Given the description of an element on the screen output the (x, y) to click on. 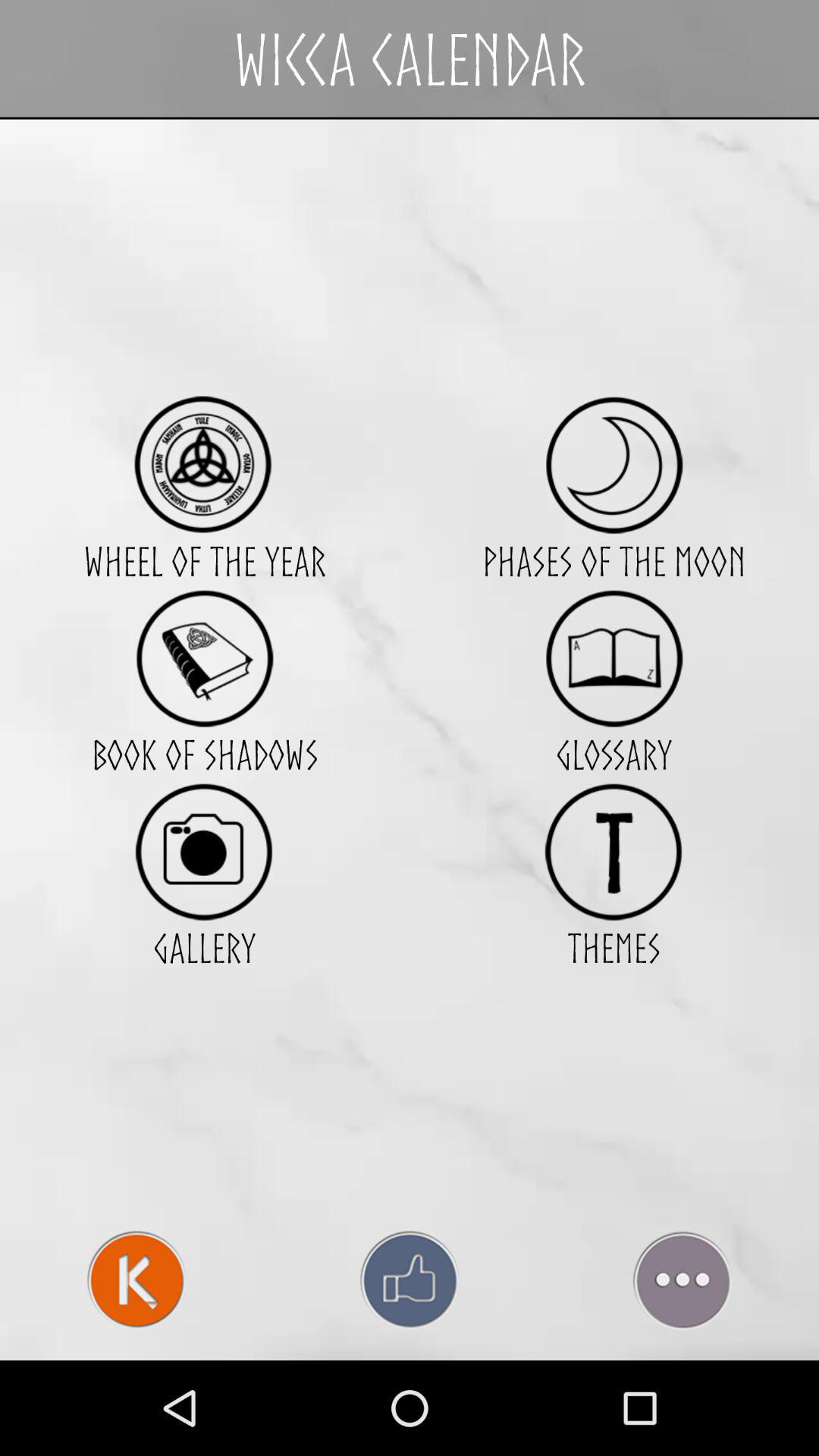
open theme menu (613, 851)
